Given the description of an element on the screen output the (x, y) to click on. 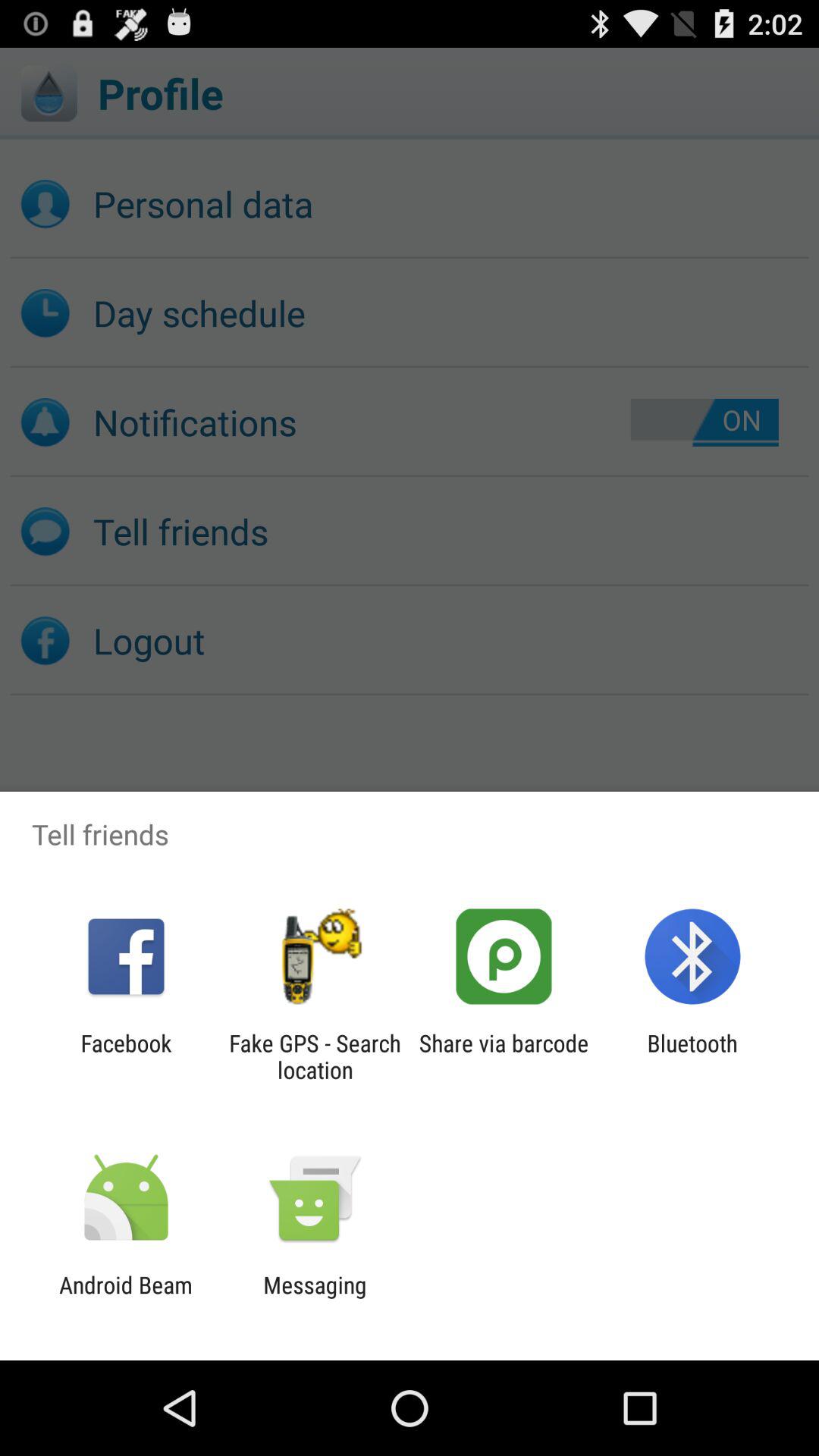
choose the item to the left of the fake gps search item (125, 1056)
